Given the description of an element on the screen output the (x, y) to click on. 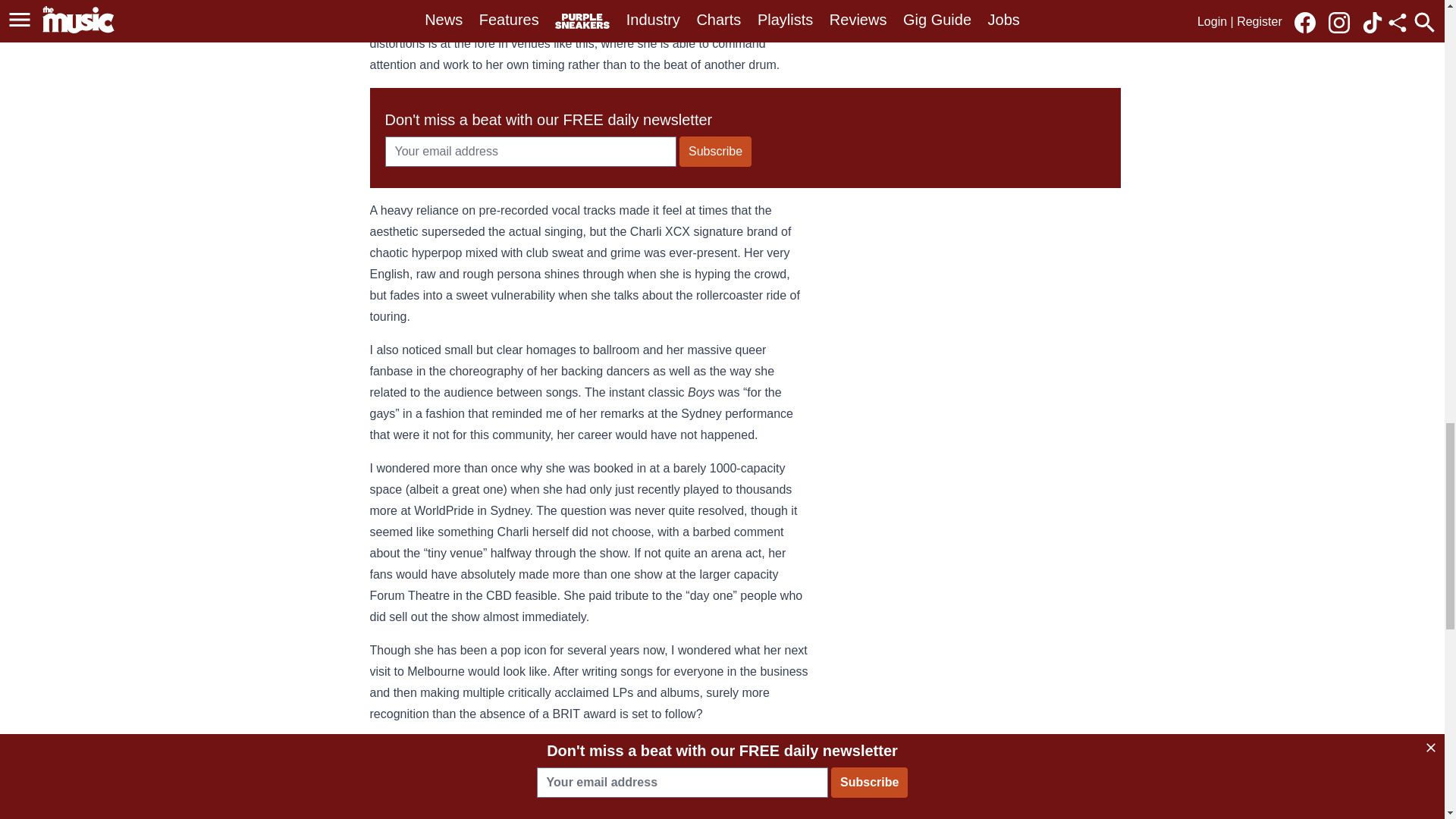
Subscribe (715, 151)
